Given the description of an element on the screen output the (x, y) to click on. 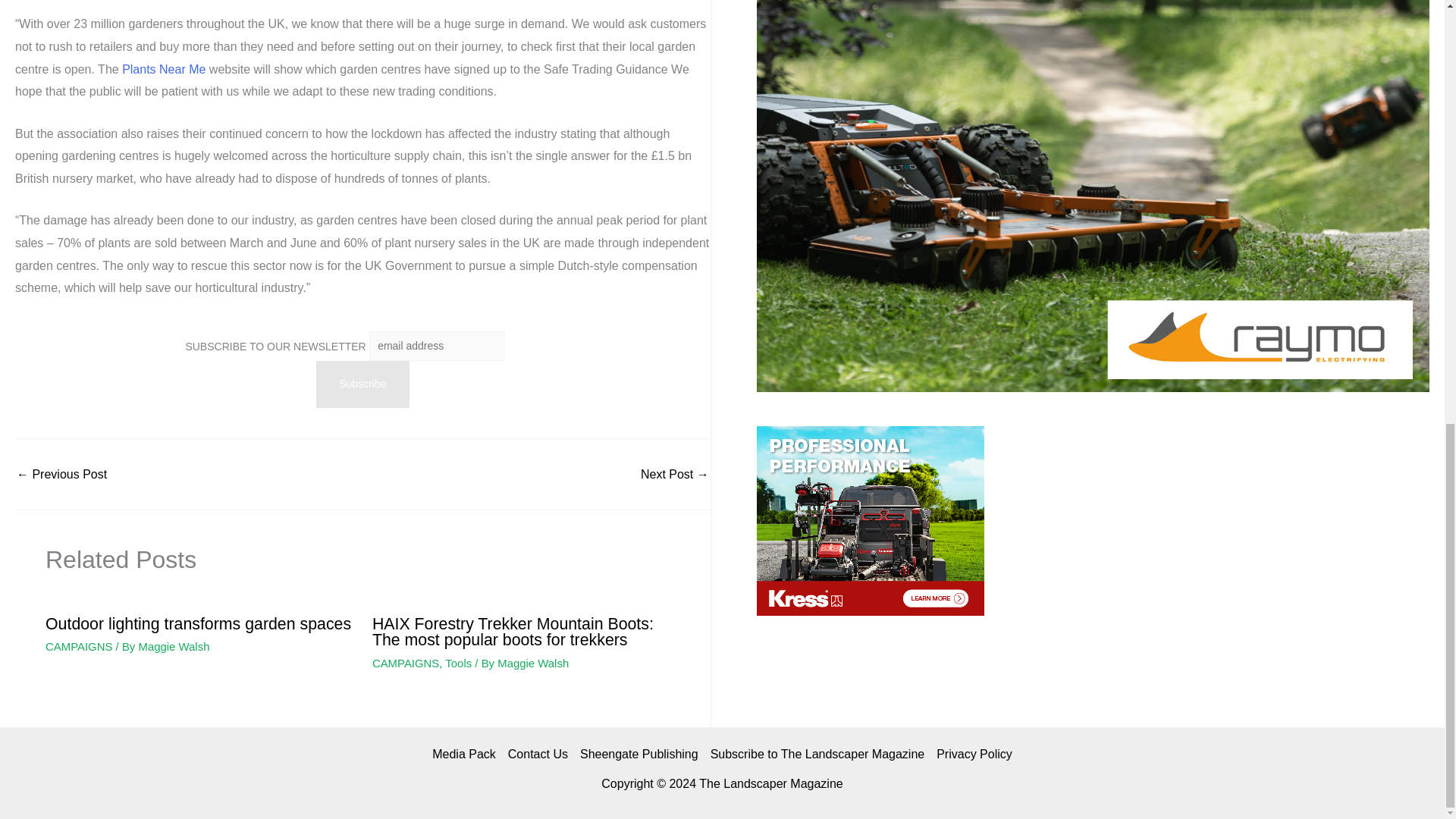
View all posts by Maggie Walsh (533, 662)
Subscribe (362, 384)
Six steps to attract landscaping customers (674, 474)
View all posts by Maggie Walsh (173, 645)
